Given the description of an element on the screen output the (x, y) to click on. 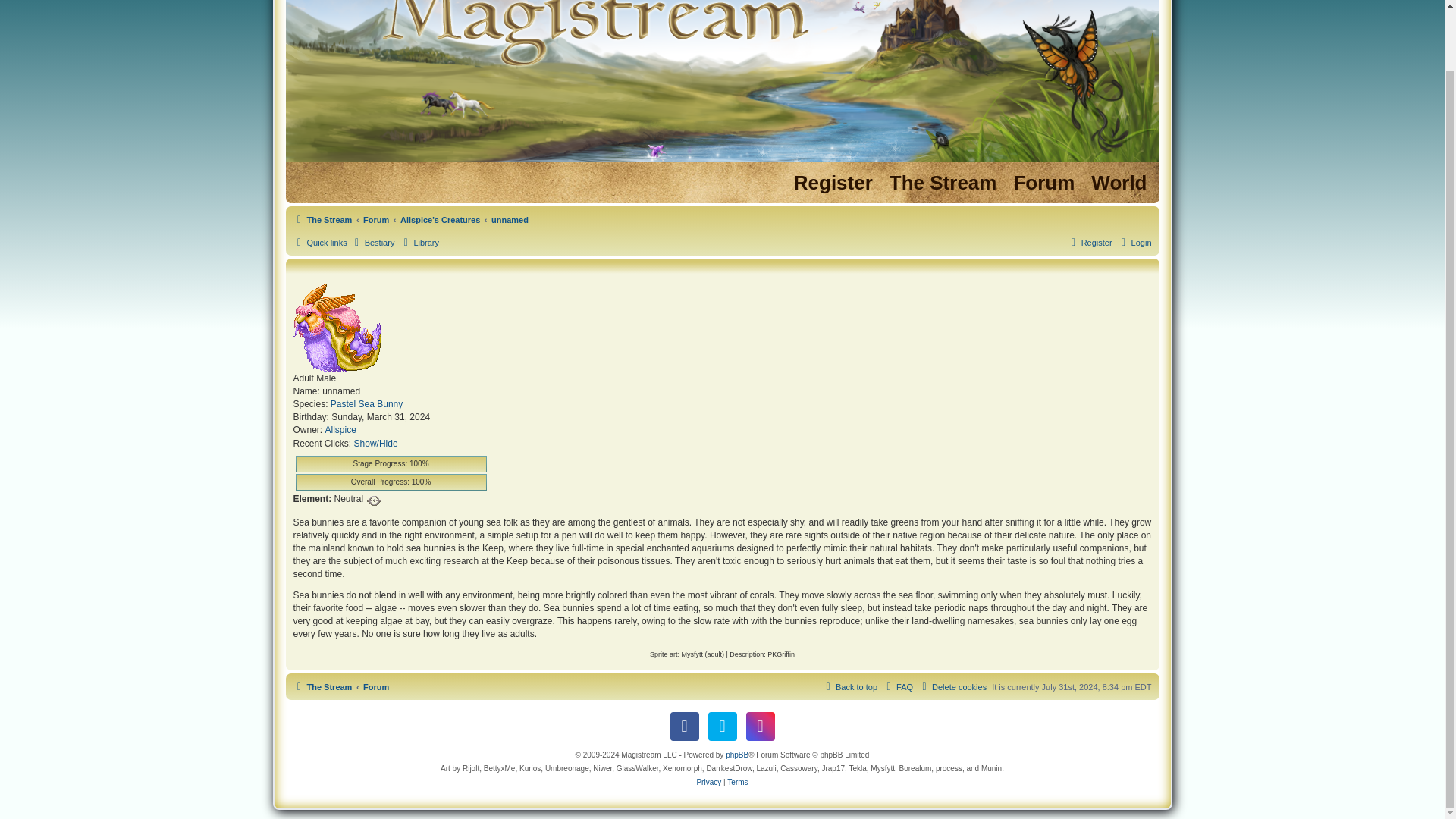
The main Stream to pick up creatures from (943, 182)
An encyclopedia of Magistream creatures (372, 242)
The Stream (943, 182)
phpBB (736, 755)
Create an account on the site (833, 182)
Pastel Sea Bunny (366, 404)
Quick links (319, 242)
Allspice (340, 430)
unnamed (510, 219)
Back to top (849, 687)
Allspice's Creatures (440, 219)
FAQ (897, 687)
The Stream (322, 219)
Register (1089, 242)
